Given the description of an element on the screen output the (x, y) to click on. 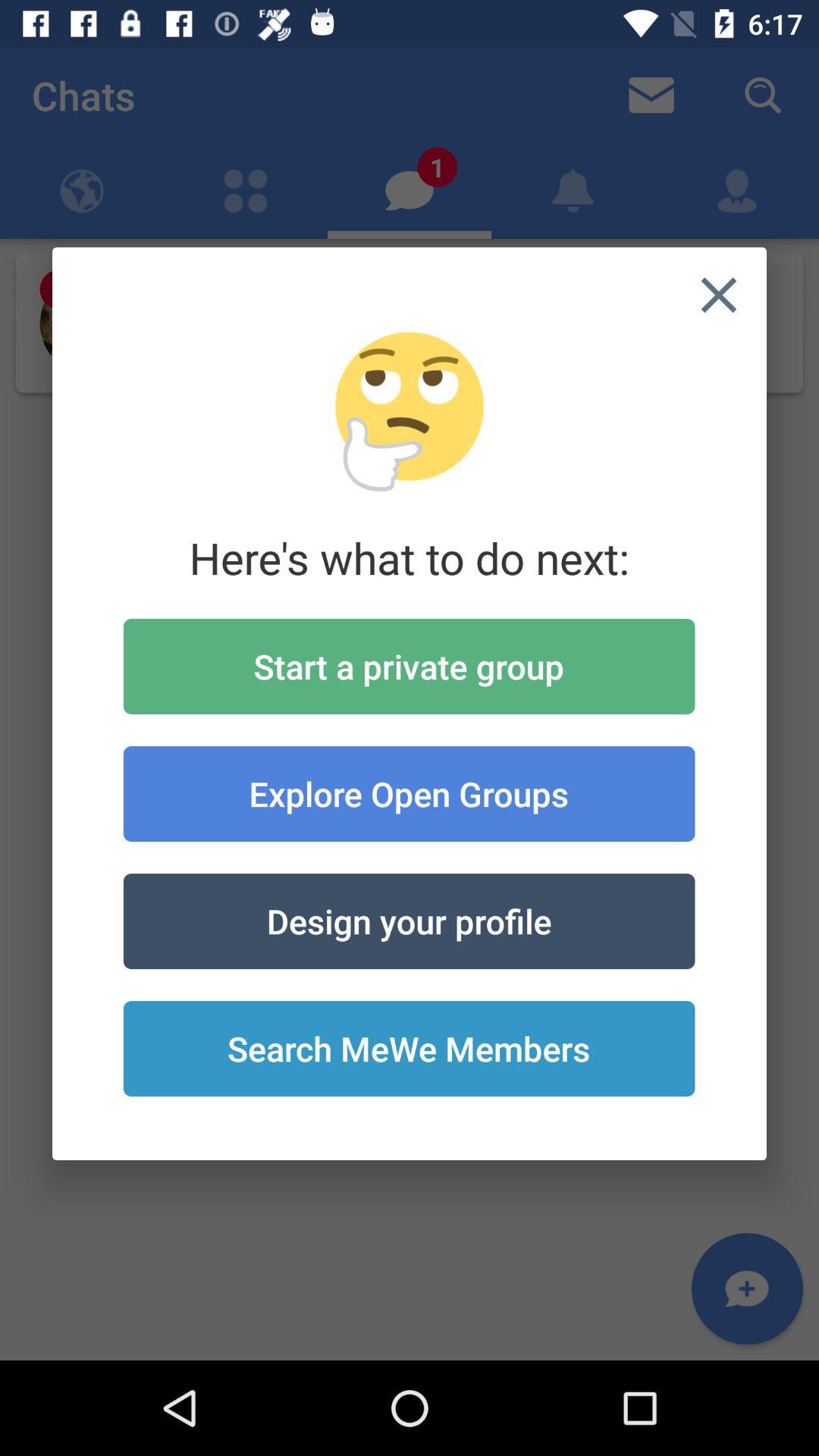
tap item above the explore open groups (409, 666)
